Given the description of an element on the screen output the (x, y) to click on. 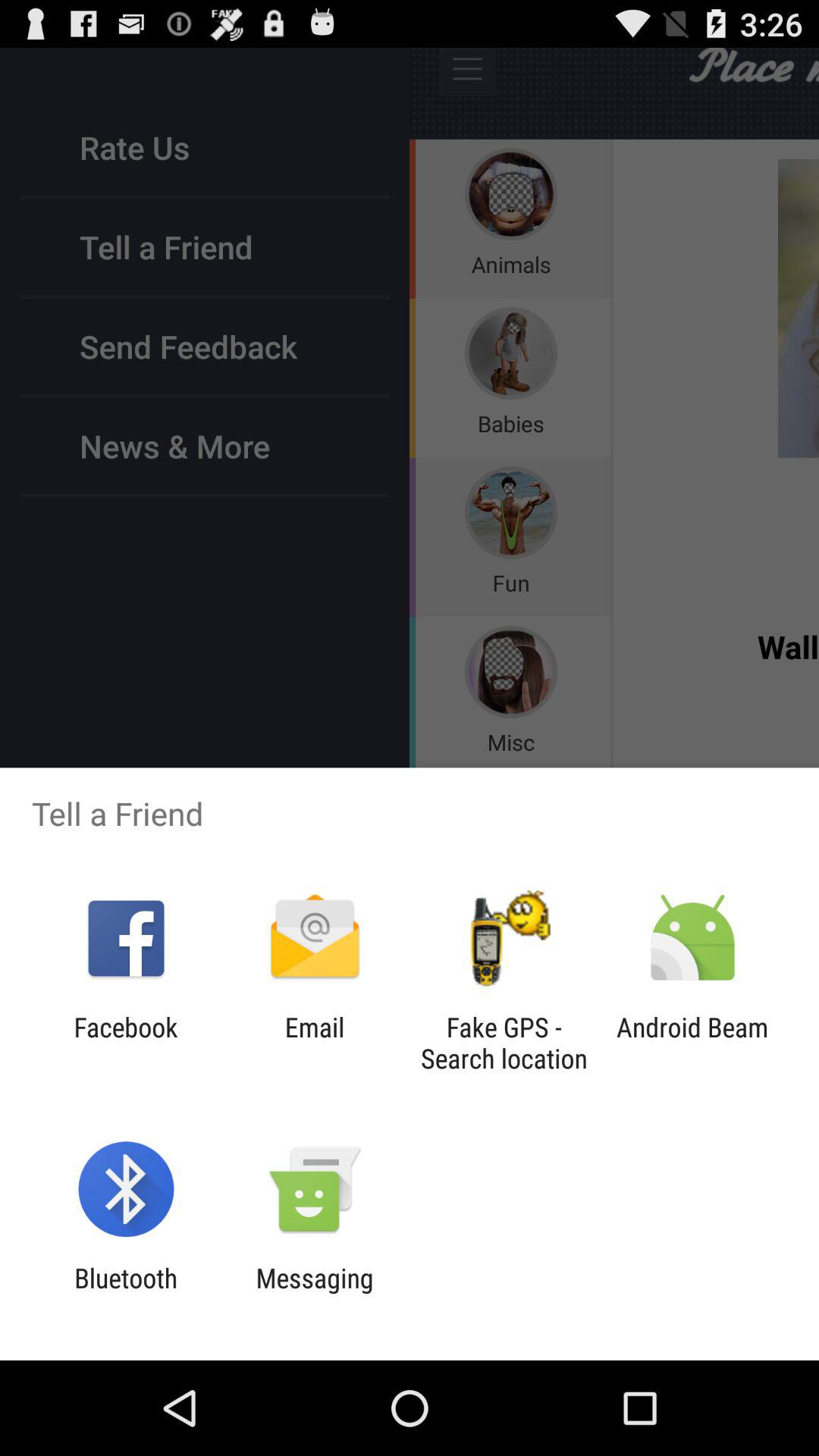
launch the android beam app (692, 1042)
